Given the description of an element on the screen output the (x, y) to click on. 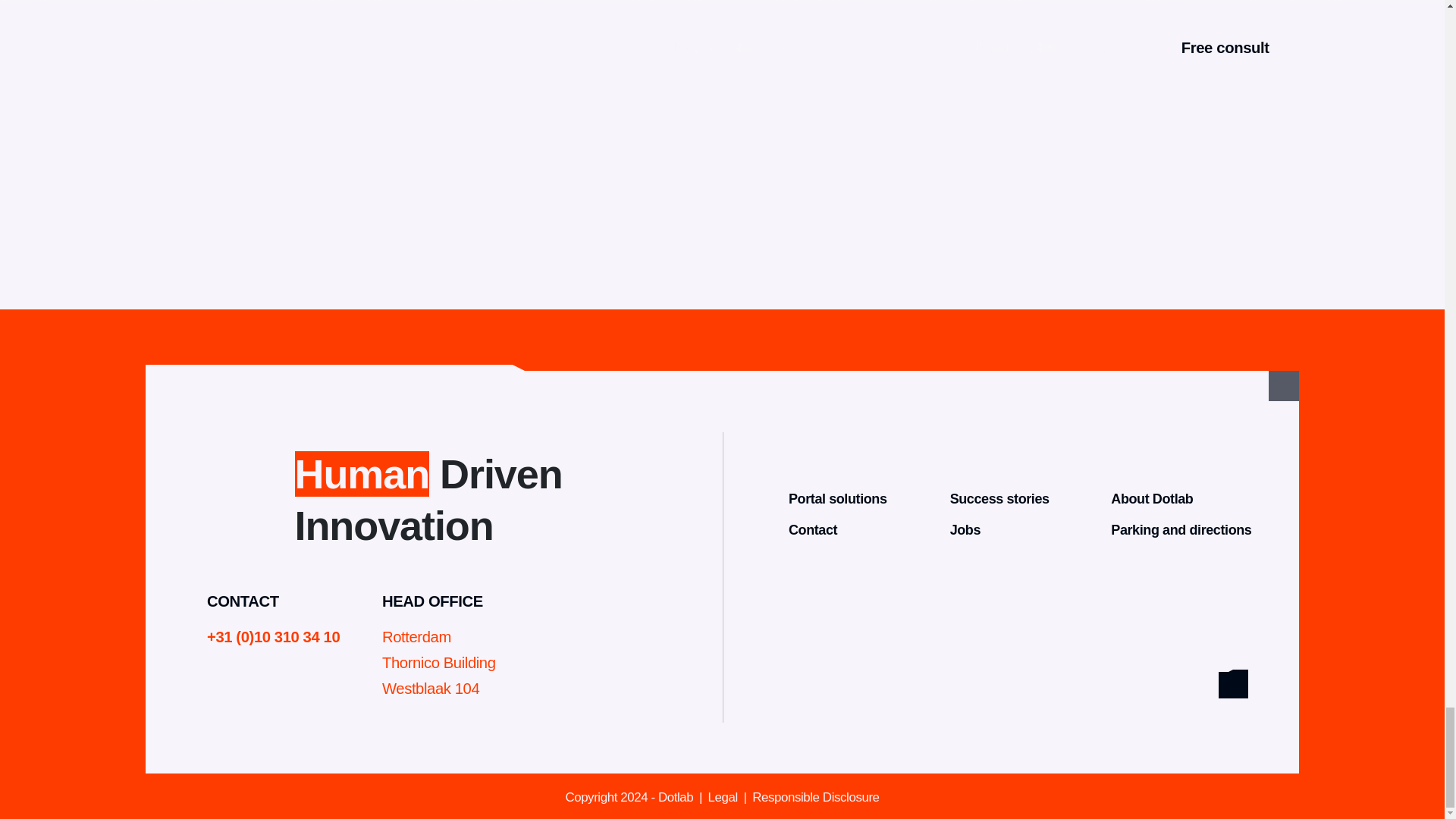
About Dotlab (1151, 498)
Success stories (999, 498)
Legal (719, 797)
Portal solutions (837, 498)
Responsible Disclosure (810, 797)
Jobs (964, 529)
Contact (813, 529)
Parking and directions (1180, 529)
